Given the description of an element on the screen output the (x, y) to click on. 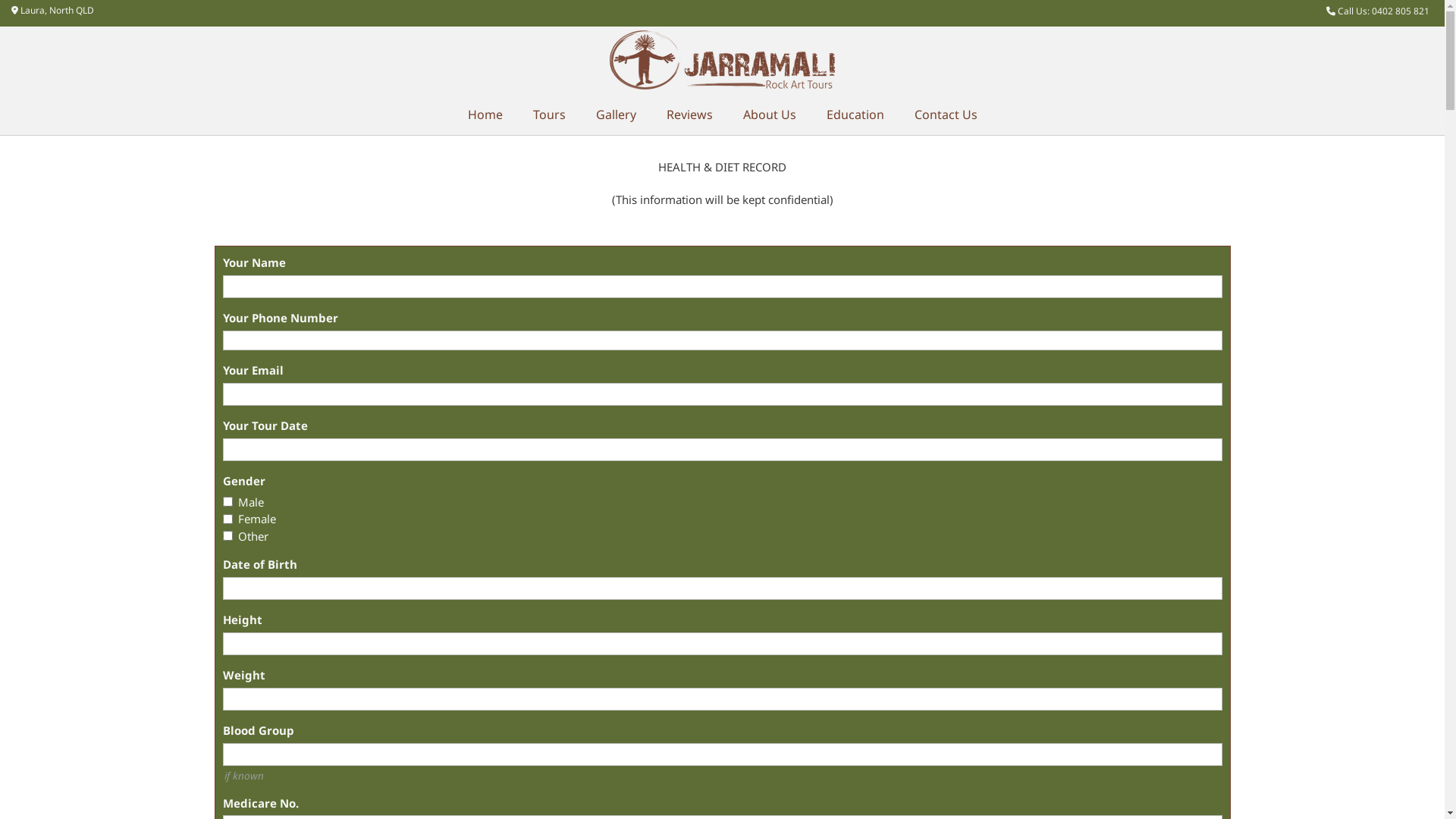
Jarramali Rock Art Tours Element type: hover (721, 60)
Home Element type: text (484, 114)
Tours Element type: text (548, 114)
About Us Element type: text (769, 114)
Gallery Element type: text (615, 114)
Contact Us Element type: text (945, 114)
Reviews Element type: text (688, 114)
Education Element type: text (855, 114)
